Given the description of an element on the screen output the (x, y) to click on. 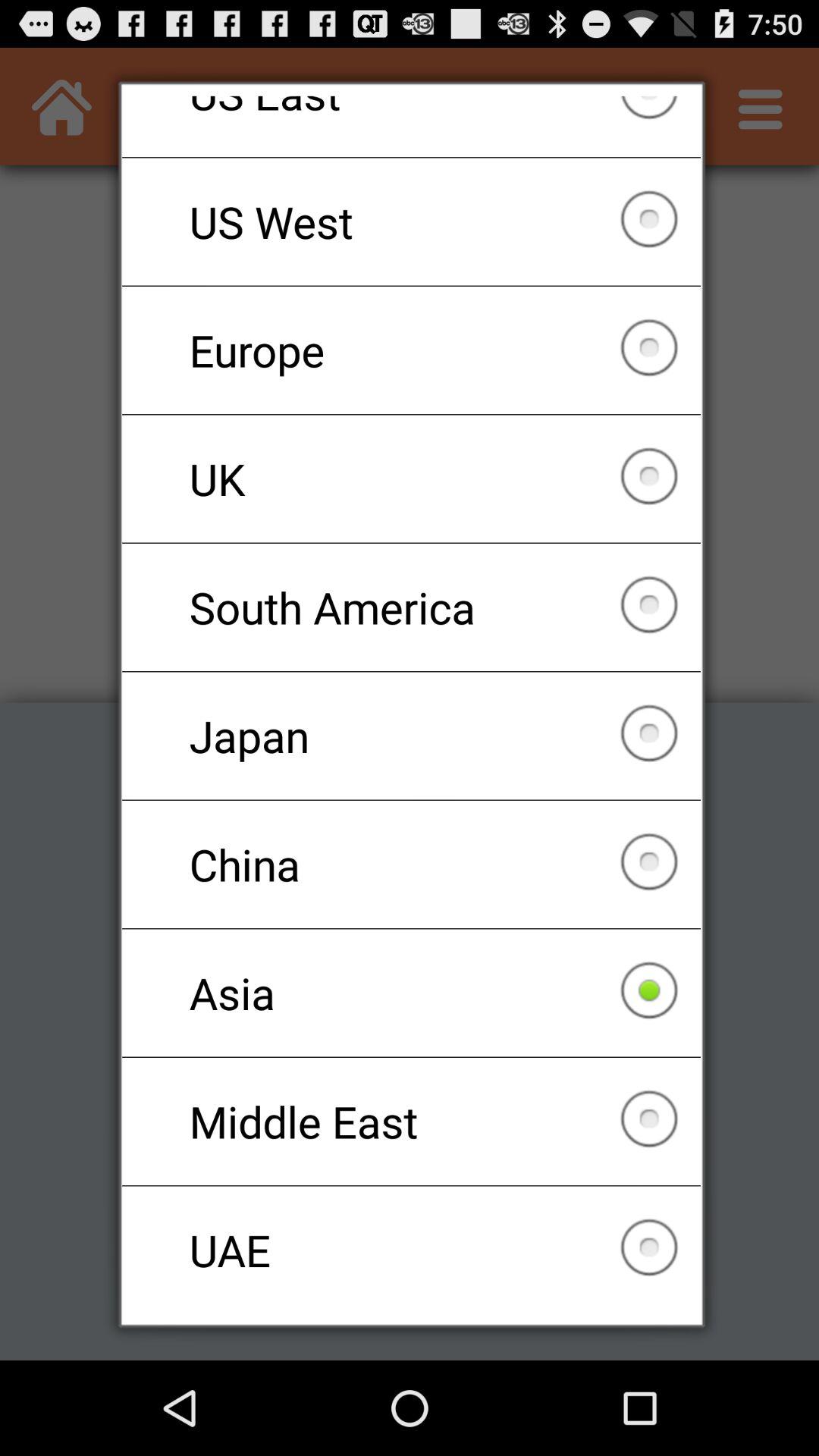
launch the item below     us east item (411, 221)
